Given the description of an element on the screen output the (x, y) to click on. 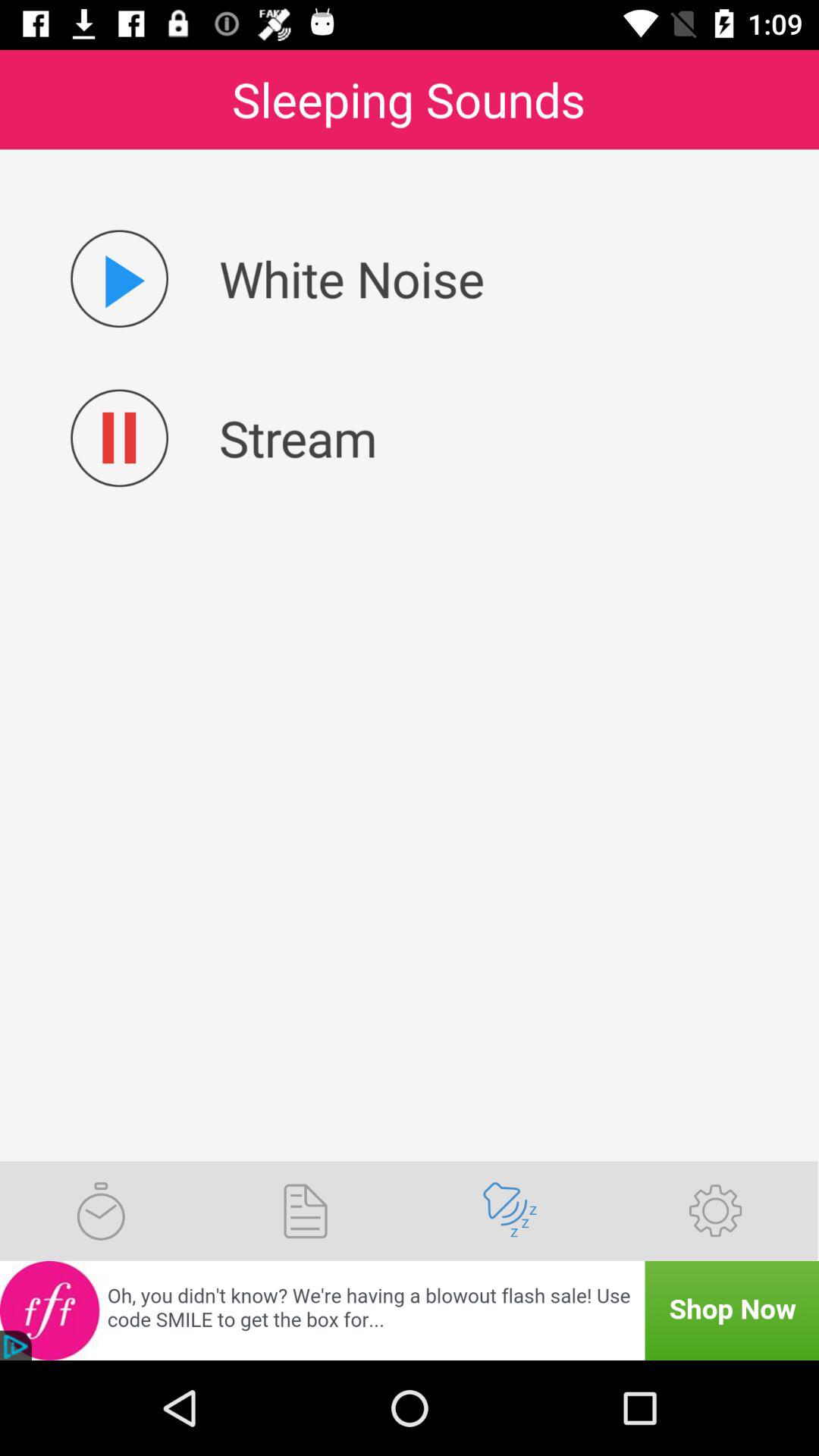
shop now (409, 1310)
